Given the description of an element on the screen output the (x, y) to click on. 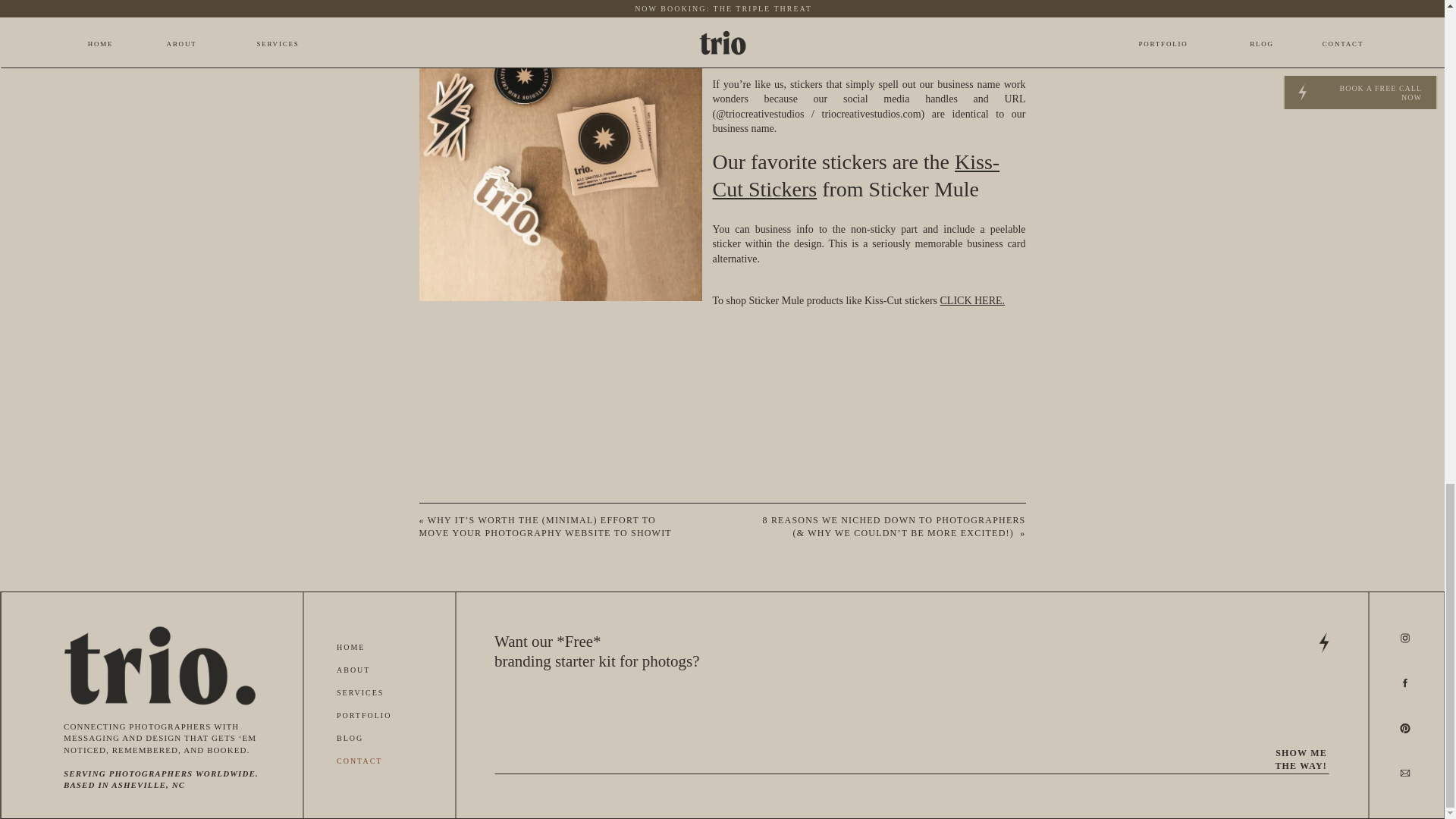
BLOG (358, 739)
ABOUT (362, 671)
Kiss-Cut Stickers (856, 174)
HOME (360, 648)
CONTACT (369, 762)
PORTFOLIO (379, 716)
SHOW ME THE WAY! (1292, 758)
CLICK HERE. (973, 300)
SERVICES (375, 694)
